Given the description of an element on the screen output the (x, y) to click on. 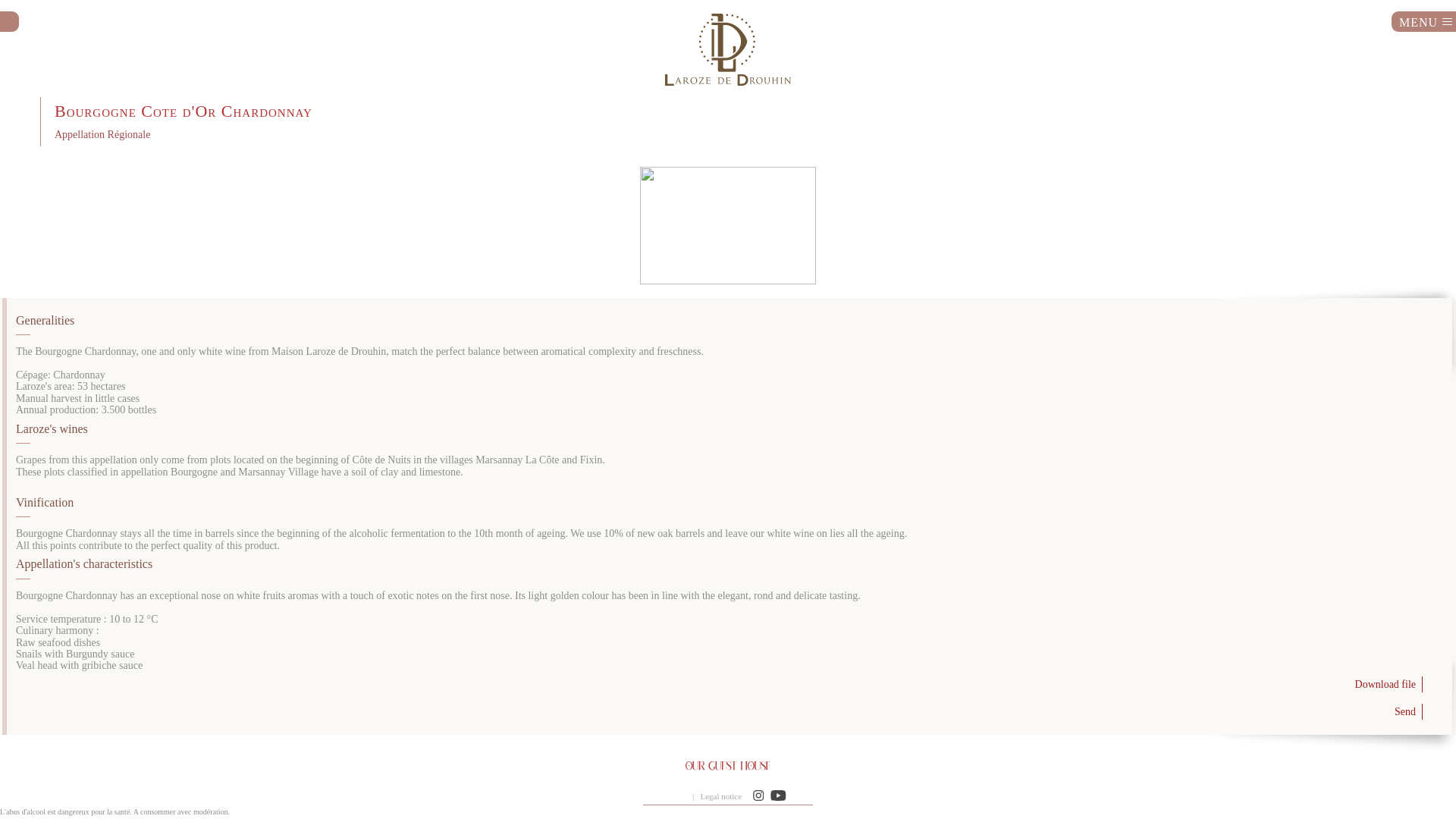
Legal notice (720, 795)
Send (730, 712)
